Given the description of an element on the screen output the (x, y) to click on. 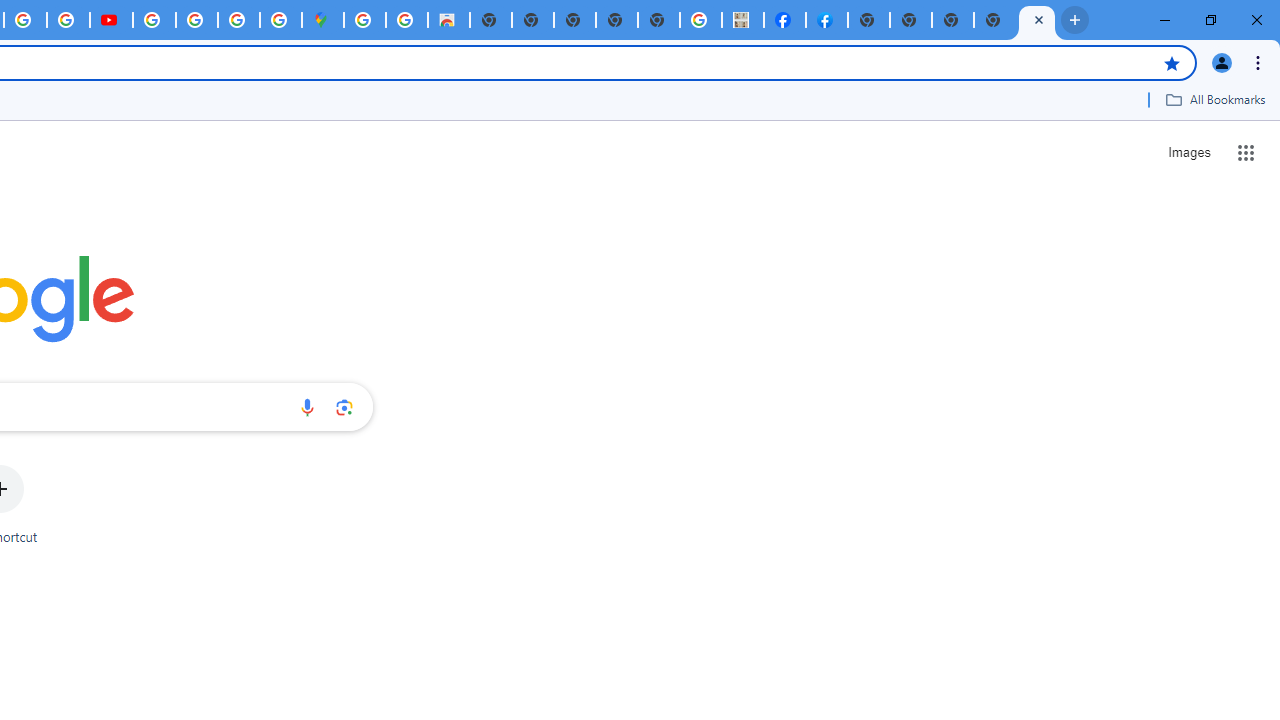
New Tab (1037, 20)
New Tab (952, 20)
Sign Up for Facebook (827, 20)
MILEY CYRUS. (742, 20)
How Chrome protects your passwords - Google Chrome Help (154, 20)
